Given the description of an element on the screen output the (x, y) to click on. 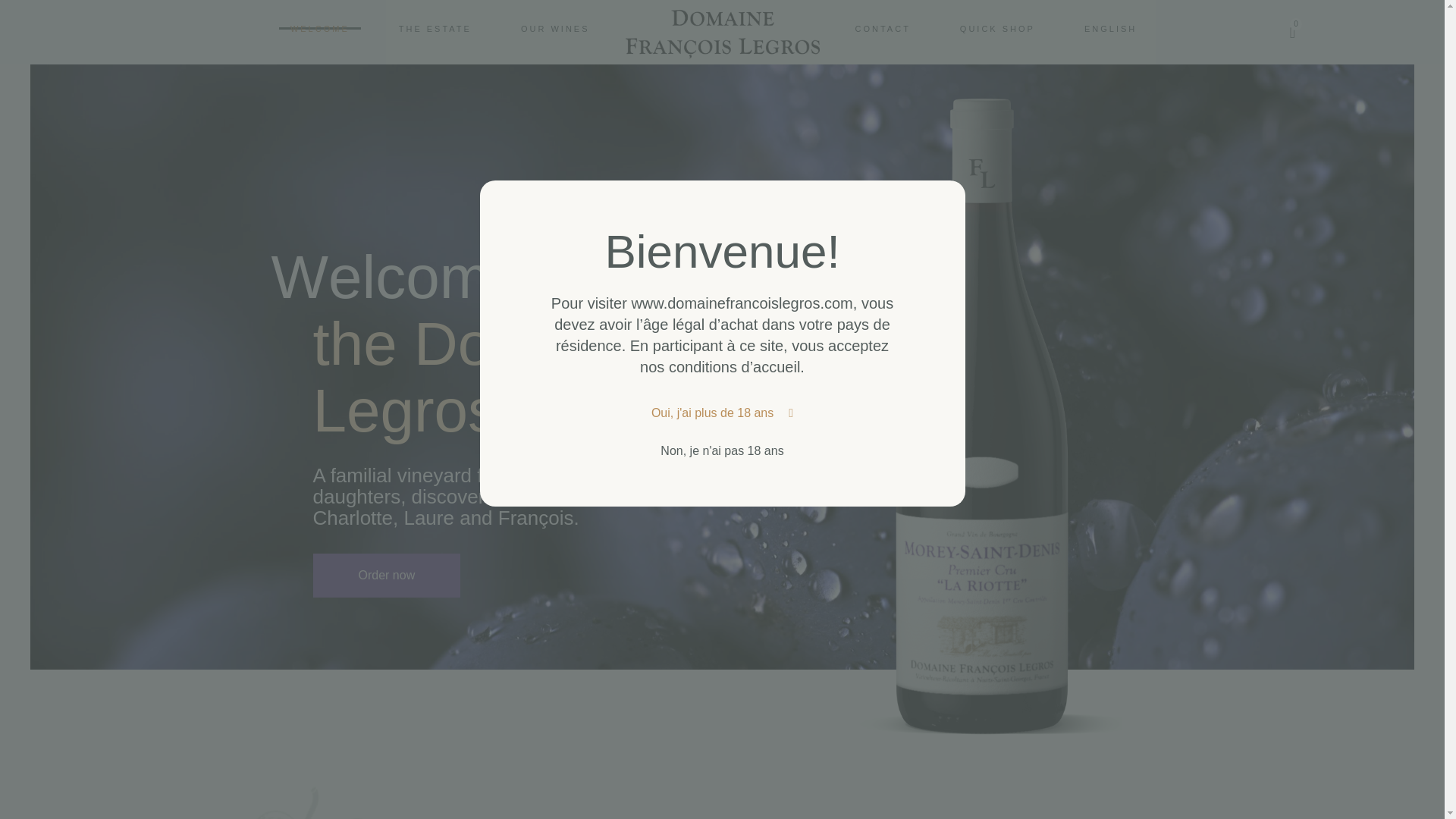
QUICK SHOP (997, 27)
CONTACT (882, 27)
OUR WINES (555, 27)
ENGLISH (440, 33)
THE ESTATE (1110, 27)
WELCOME (435, 27)
